Given the description of an element on the screen output the (x, y) to click on. 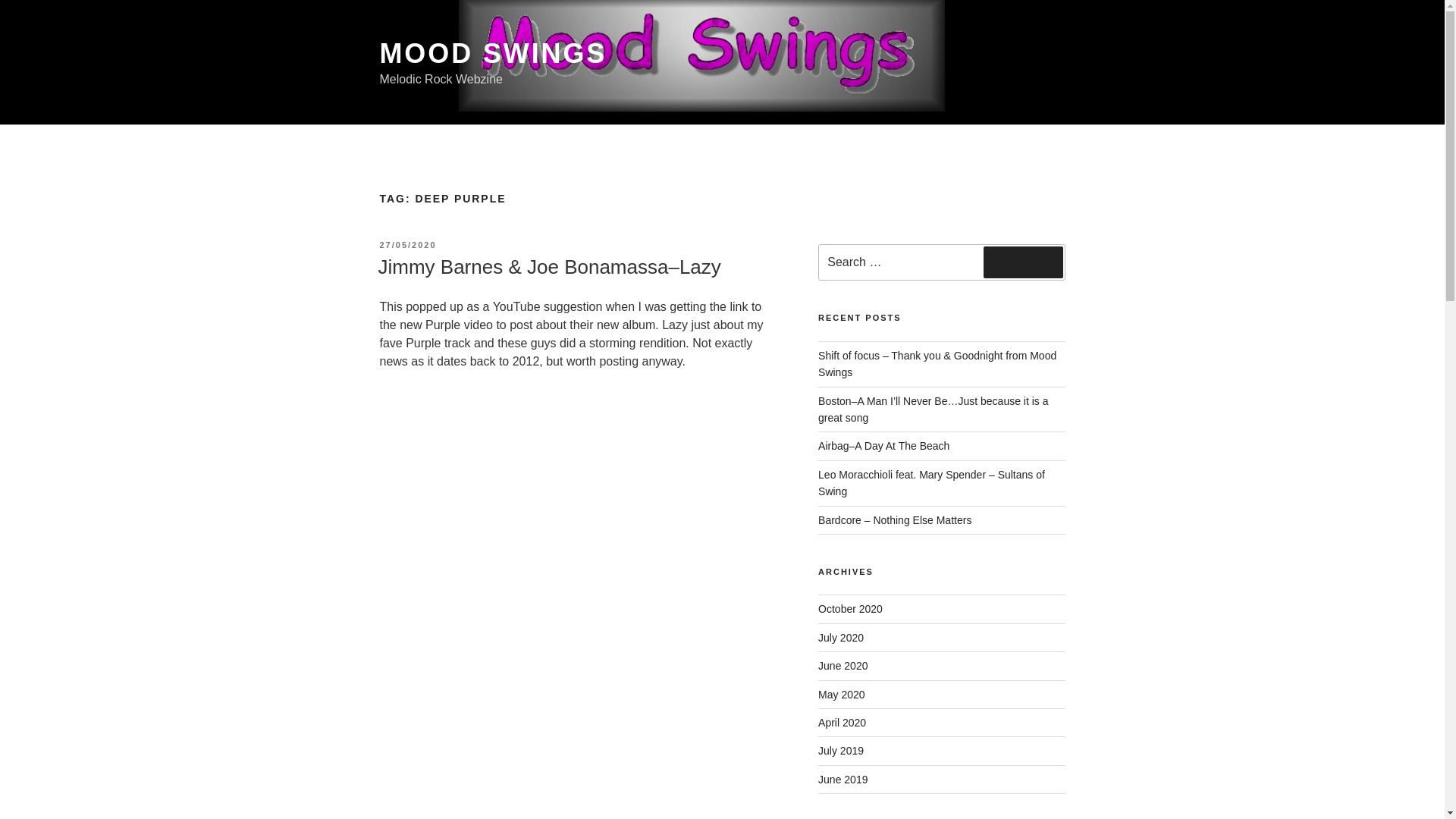
Search (1023, 262)
June 2019 (842, 779)
July 2020 (840, 637)
June 2020 (842, 665)
May 2020 (841, 694)
July 2019 (840, 750)
April 2020 (842, 722)
October 2020 (850, 608)
MOOD SWINGS (492, 52)
